Given the description of an element on the screen output the (x, y) to click on. 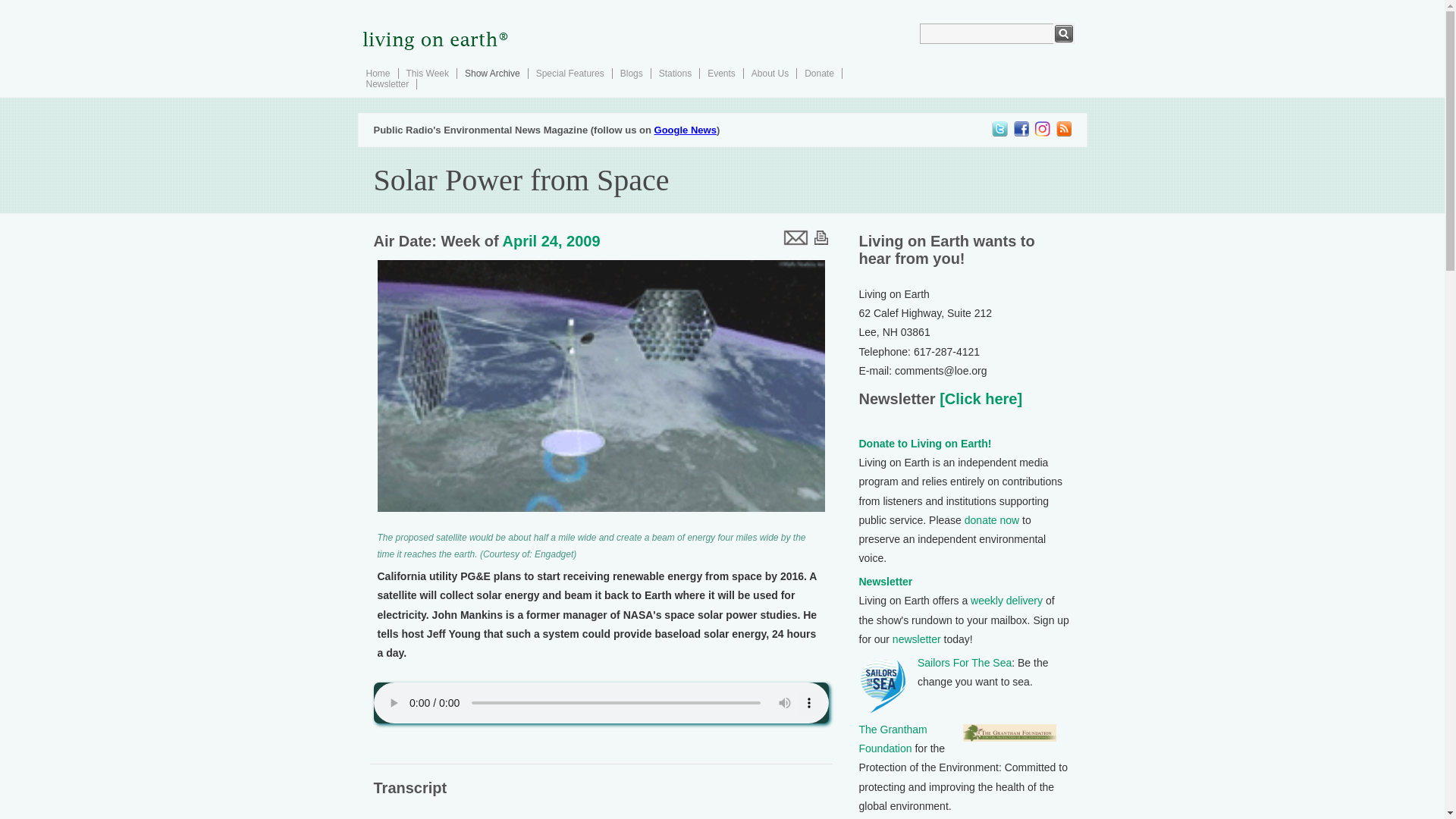
Home (377, 72)
Donate to Living on Earth! (925, 443)
April 24, 2009 (550, 240)
Newsletter (387, 83)
Special Features (569, 72)
donate now (991, 520)
Events (721, 72)
Blogs (631, 72)
Stations (675, 72)
newsletter (916, 639)
